Given the description of an element on the screen output the (x, y) to click on. 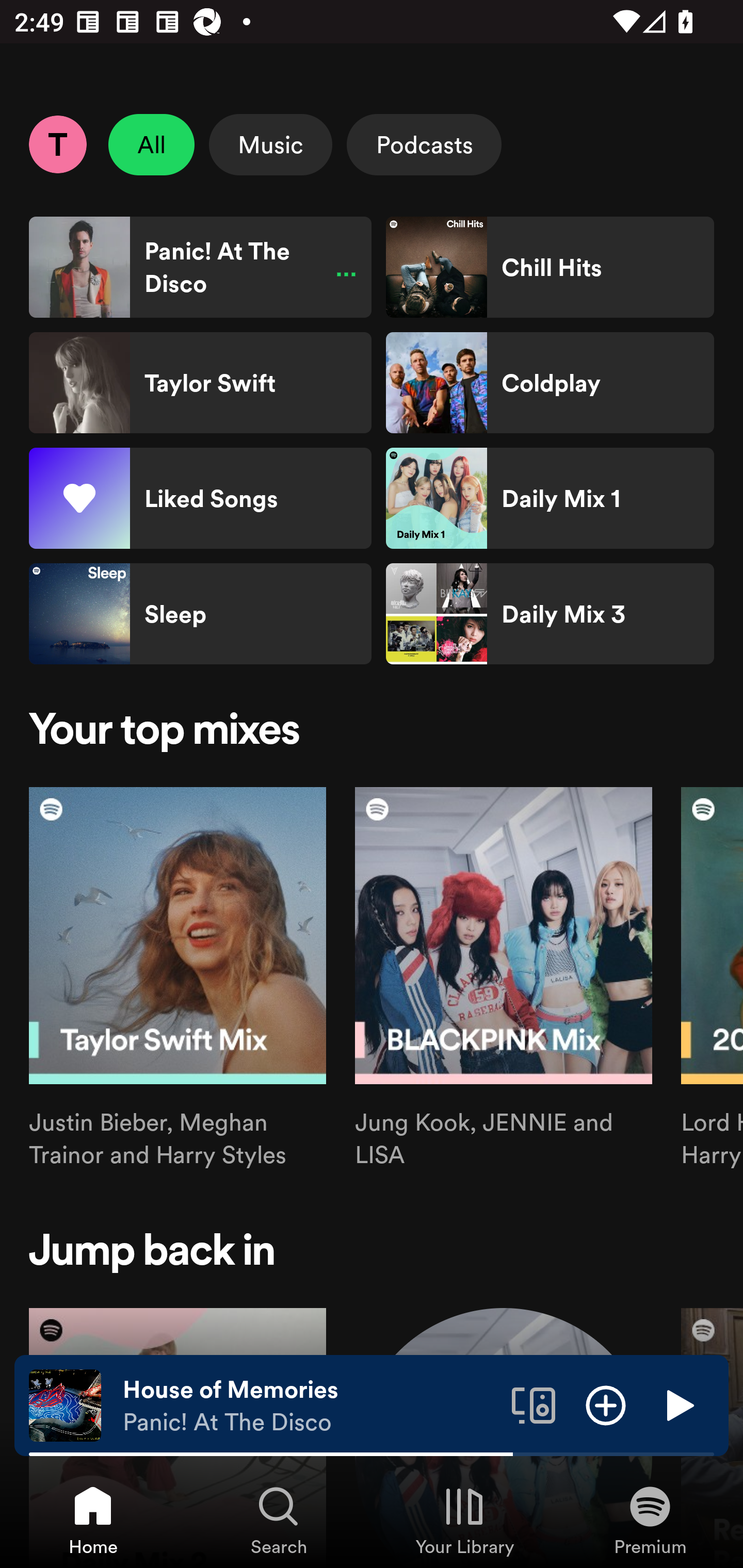
Profile (57, 144)
All Unselect All (151, 144)
Music Select Music (270, 144)
Podcasts Select Podcasts (423, 144)
Chill Hits Shortcut Chill Hits (549, 267)
Taylor Swift Shortcut Taylor Swift (199, 382)
Coldplay Shortcut Coldplay (549, 382)
Liked Songs Shortcut Liked Songs (199, 498)
Daily Mix 1 Shortcut Daily Mix 1 (549, 498)
Sleep Shortcut Sleep (199, 613)
Daily Mix 3 Shortcut Daily Mix 3 (549, 613)
House of Memories Panic! At The Disco (309, 1405)
The cover art of the currently playing track (64, 1404)
Connect to a device. Opens the devices menu (533, 1404)
Add item (605, 1404)
Play (677, 1404)
Home, Tab 1 of 4 Home Home (92, 1519)
Search, Tab 2 of 4 Search Search (278, 1519)
Your Library, Tab 3 of 4 Your Library Your Library (464, 1519)
Premium, Tab 4 of 4 Premium Premium (650, 1519)
